Given the description of an element on the screen output the (x, y) to click on. 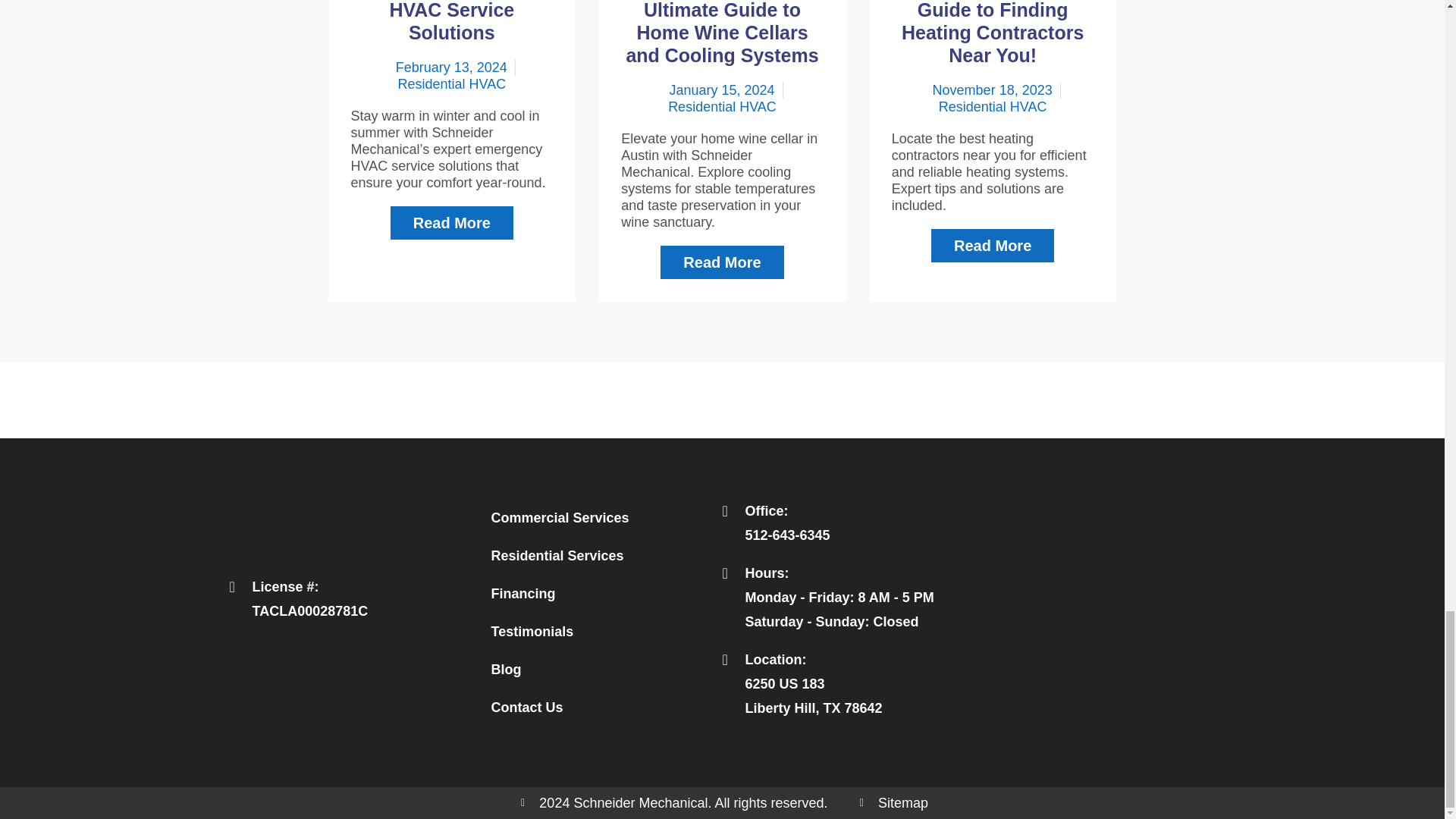
Schneider Mechanical Austin, TX (1082, 608)
